Given the description of an element on the screen output the (x, y) to click on. 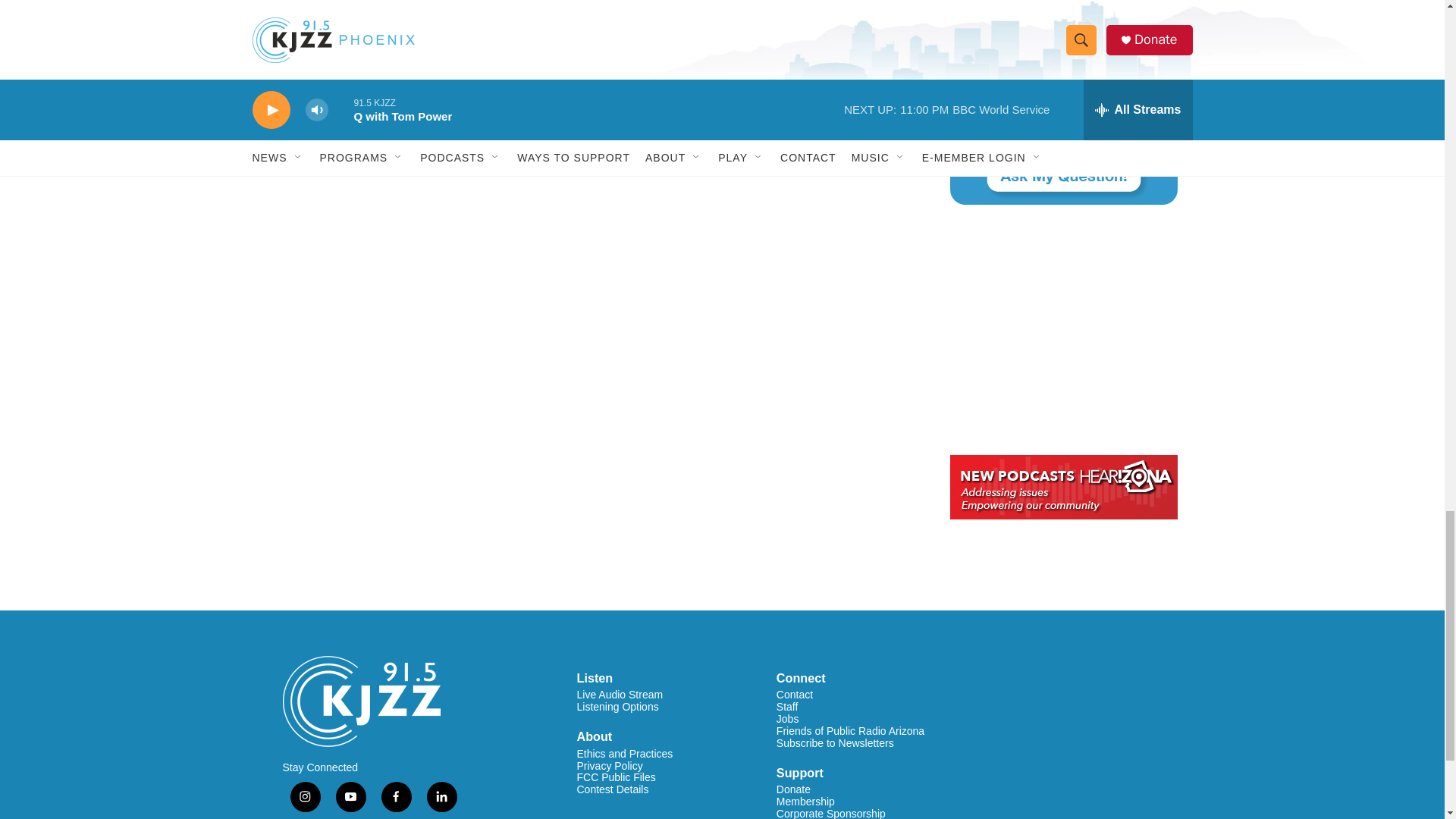
3rd party ad content (1062, 330)
